Given the description of an element on the screen output the (x, y) to click on. 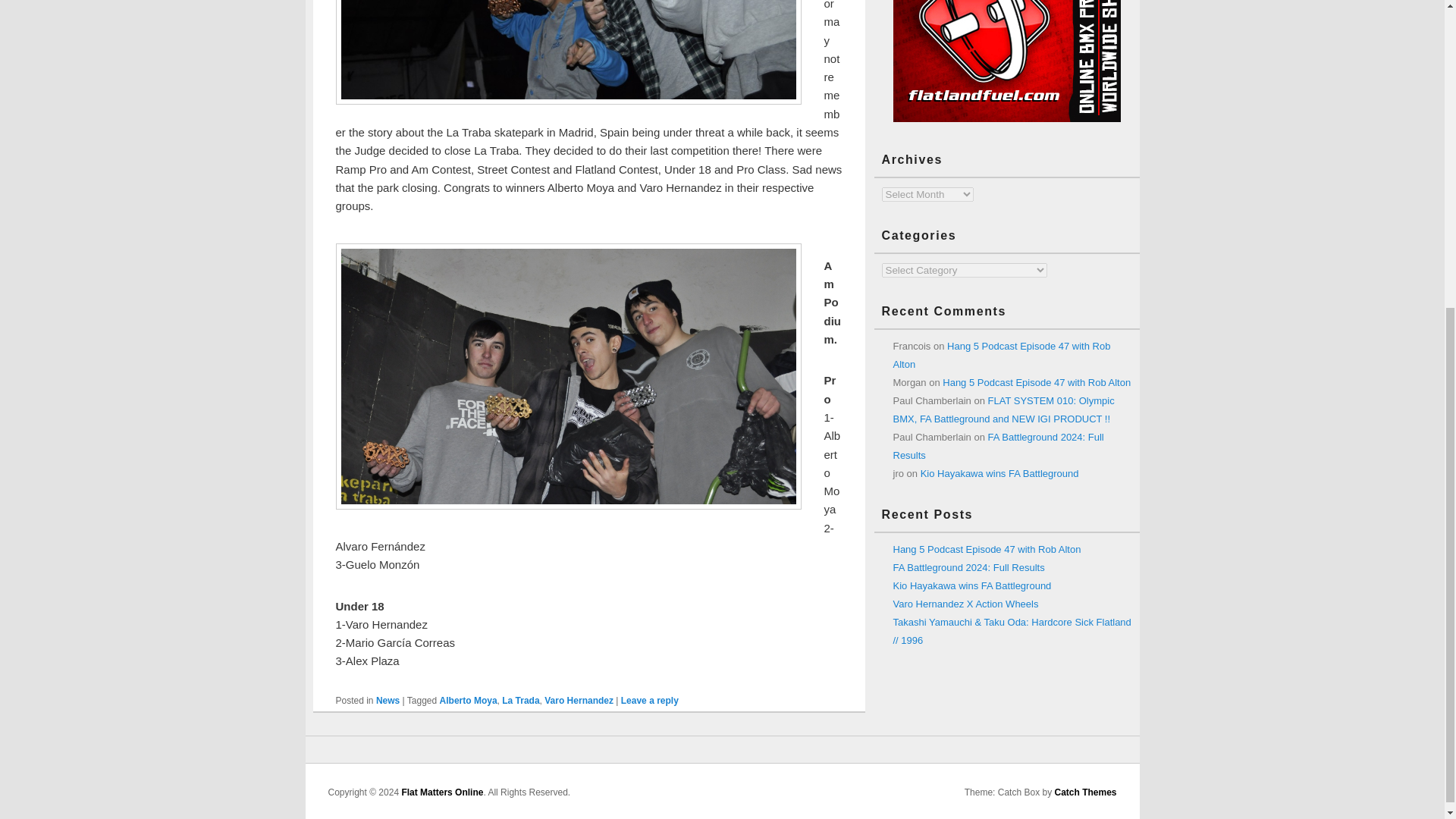
News (386, 700)
Kio Hayakawa wins FA Battleground (972, 585)
Flat Matters Online (442, 792)
Varo Hernandez X Action Wheels (966, 603)
Catch Themes (1085, 792)
Hang 5 Podcast Episode 47 with Rob Alton (987, 549)
Kio Hayakawa wins FA Battleground (999, 473)
FA Battleground 2024: Full Results (969, 567)
Flat Matters Online (442, 792)
